Given the description of an element on the screen output the (x, y) to click on. 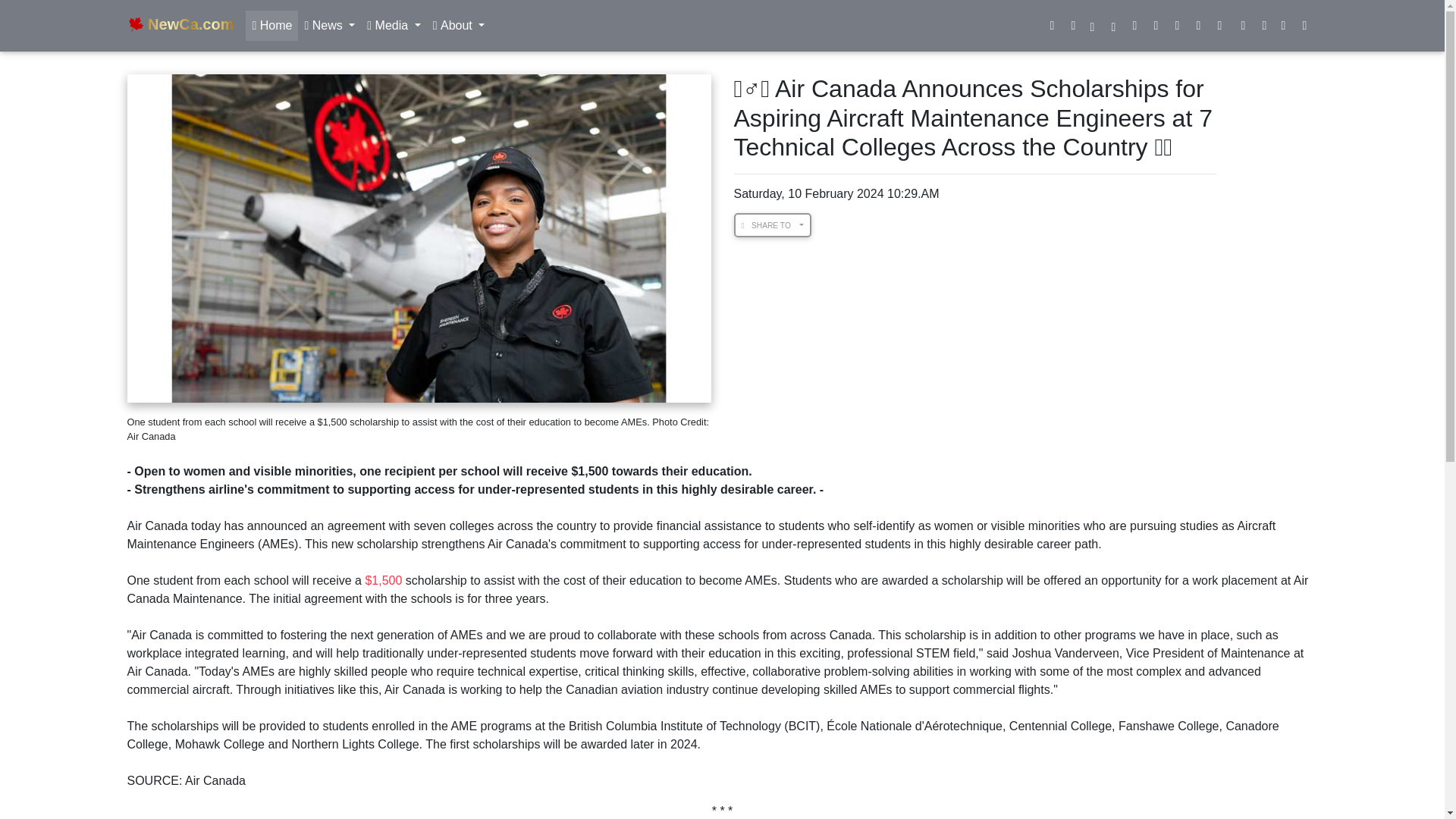
 Share to Social Network  (772, 224)
About (459, 25)
News (329, 25)
Home (272, 25)
  SHARE TO   (772, 224)
NewCa.com (181, 25)
Media (393, 25)
